Given the description of an element on the screen output the (x, y) to click on. 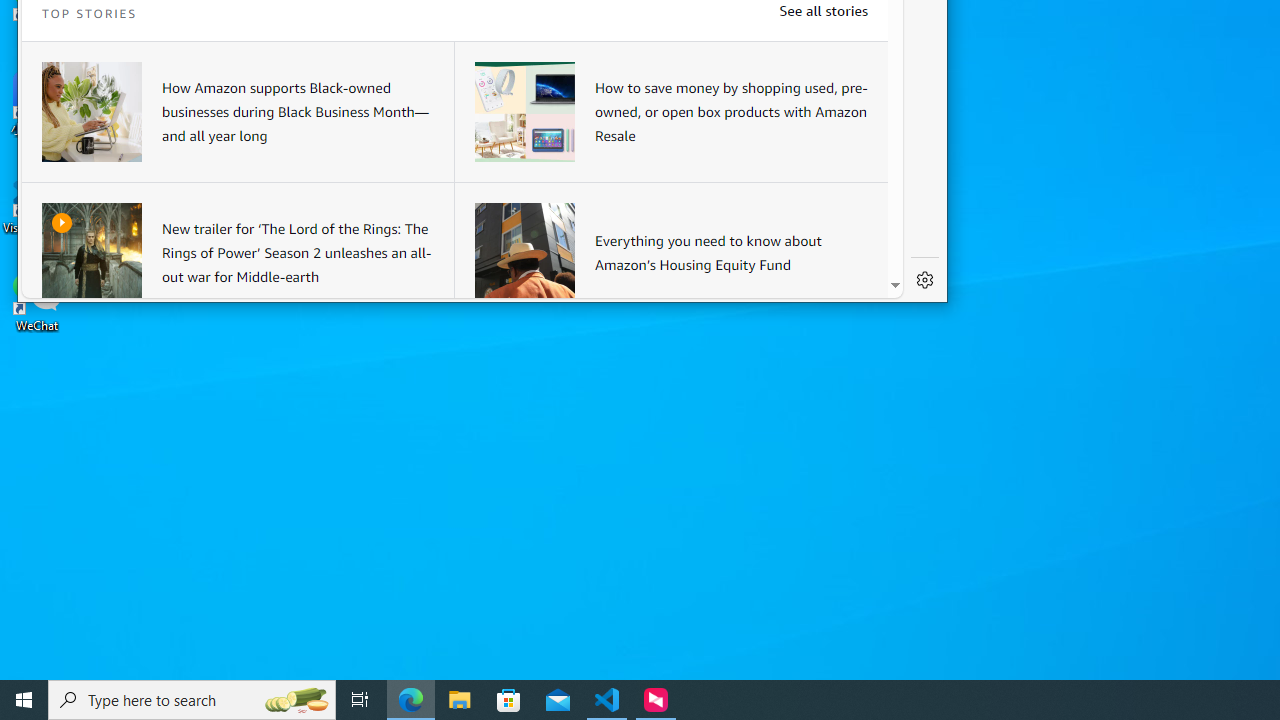
Visual Studio Code - 1 running window (607, 699)
Microsoft Edge - 1 running window (411, 699)
A woman sitting at a desk working on a laptop device. (92, 111)
Task View (359, 699)
File Explorer (460, 699)
